Given the description of an element on the screen output the (x, y) to click on. 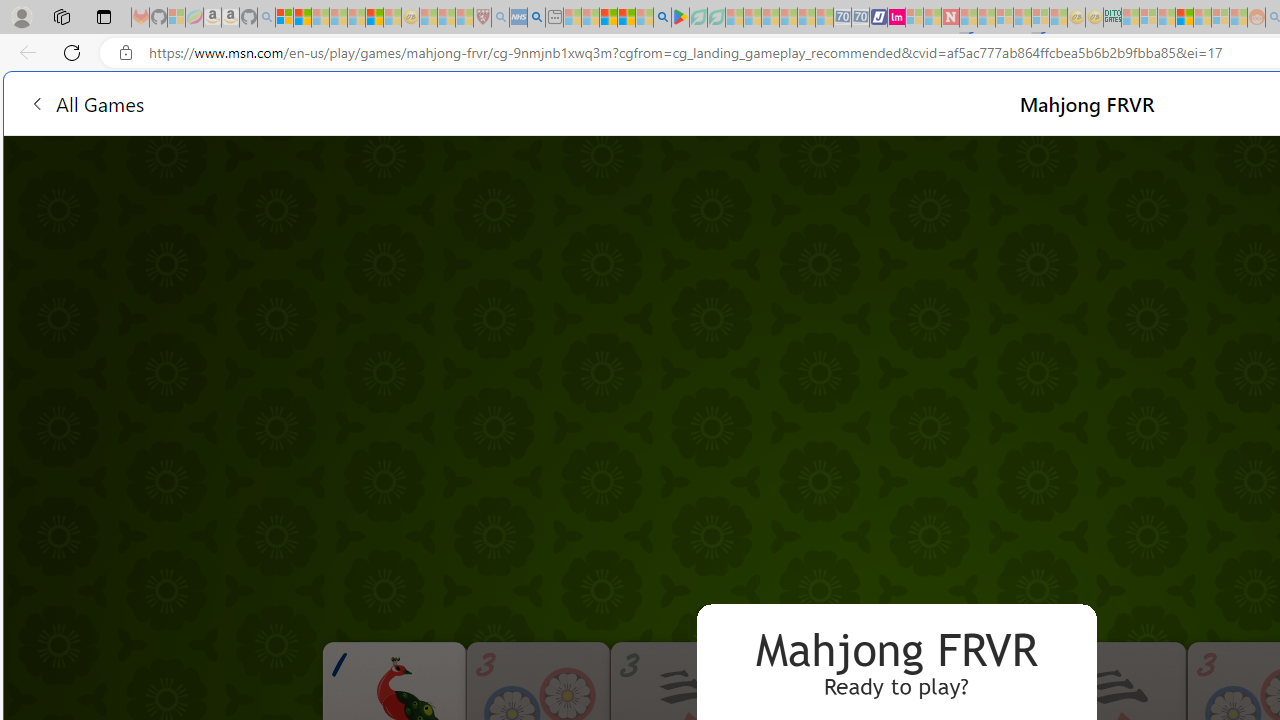
Bluey: Let's Play! - Apps on Google Play (680, 17)
Jobs - lastminute.com Investor Portal (896, 17)
